Given the description of an element on the screen output the (x, y) to click on. 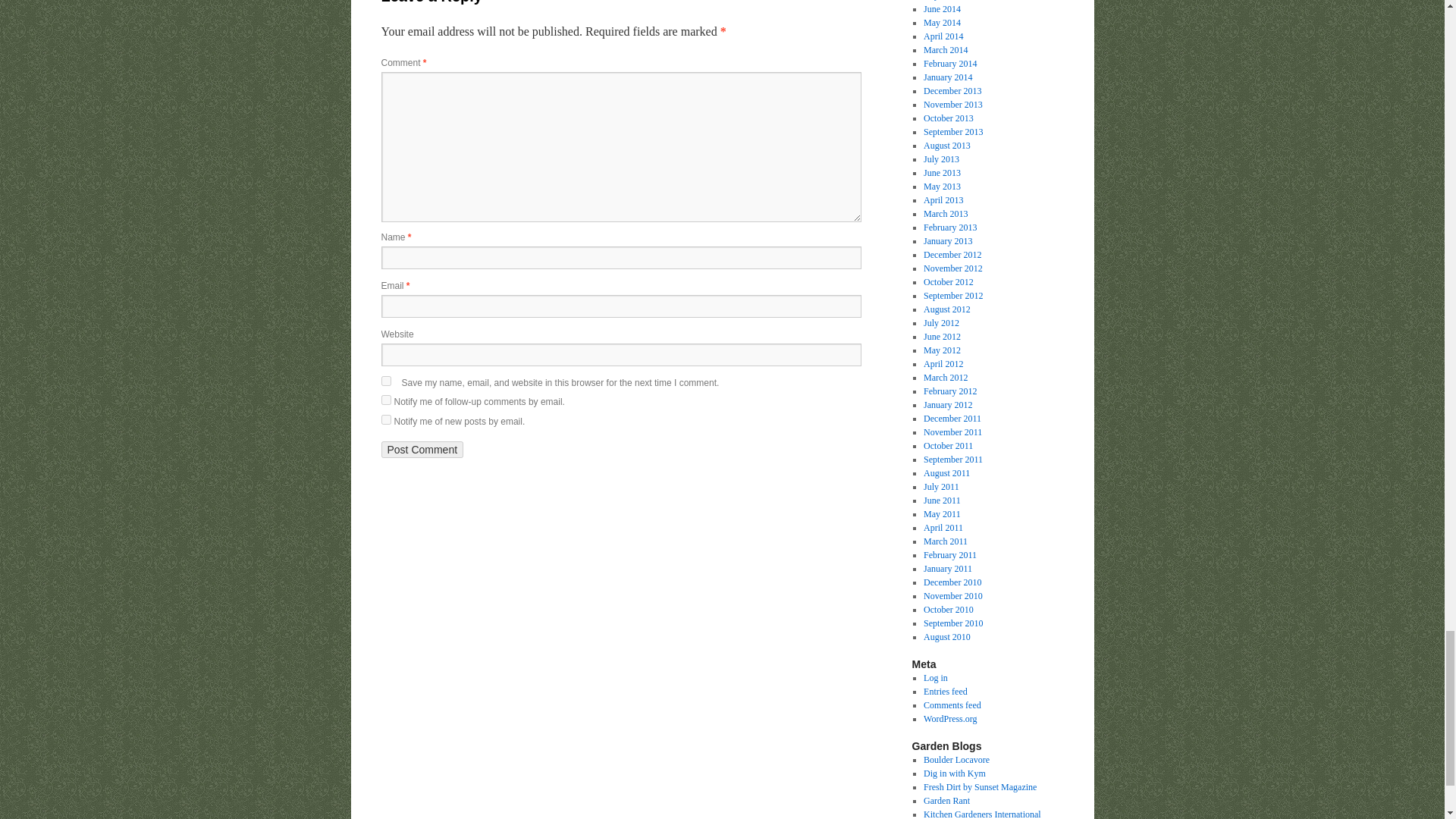
subscribe (385, 399)
Post Comment (421, 449)
subscribe (385, 419)
yes (385, 380)
Post Comment (421, 449)
